Given the description of an element on the screen output the (x, y) to click on. 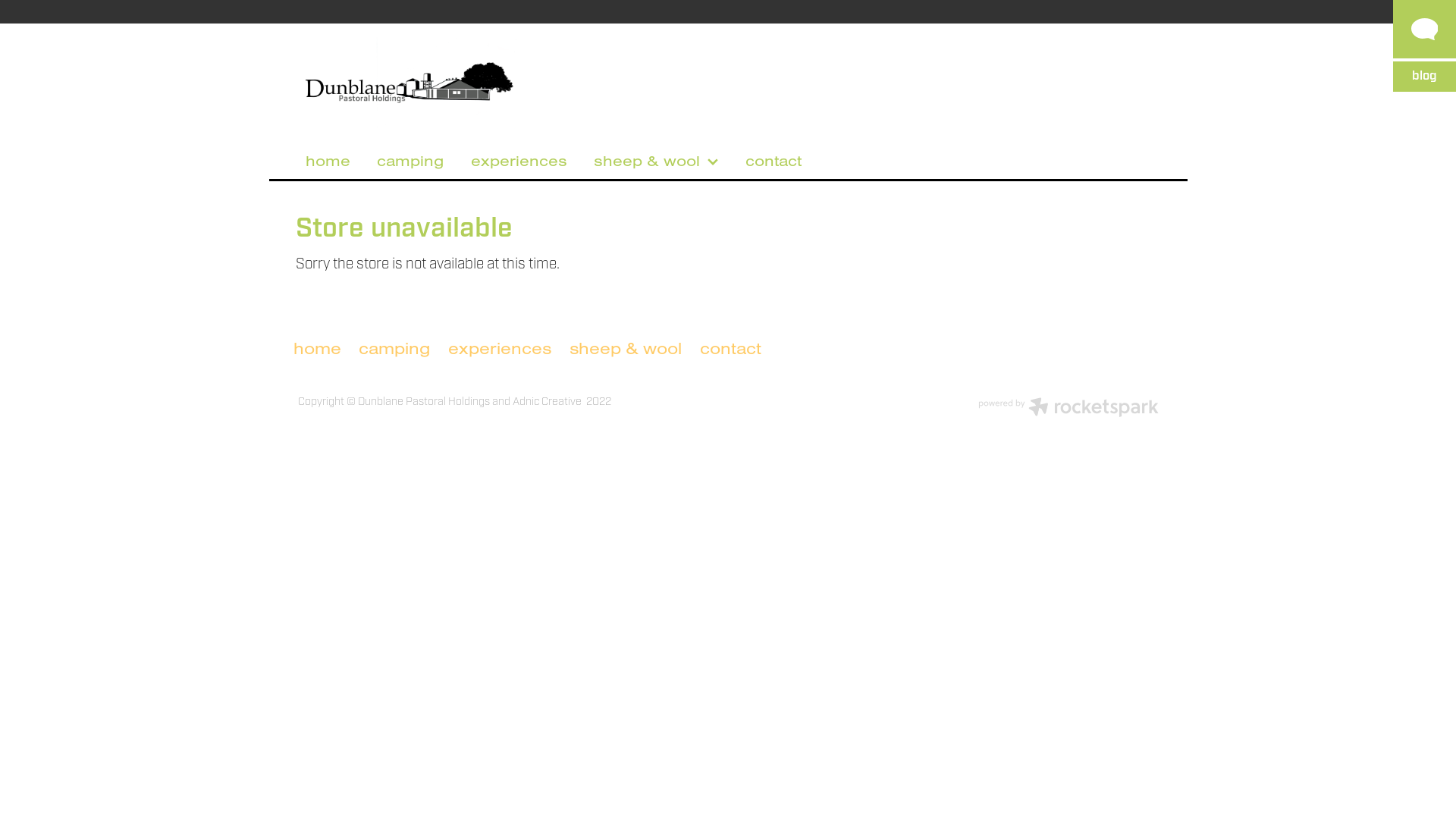
Rocketspark website builder Element type: hover (1068, 409)
experiences Element type: text (499, 348)
experiences Element type: text (518, 160)
sheep & wool Element type: text (625, 348)
home Element type: text (326, 160)
contact Element type: text (730, 348)
camping Element type: text (394, 348)
contact Element type: text (773, 160)
home Element type: text (320, 348)
camping Element type: text (409, 160)
sheep & wool Element type: text (655, 160)
